Given the description of an element on the screen output the (x, y) to click on. 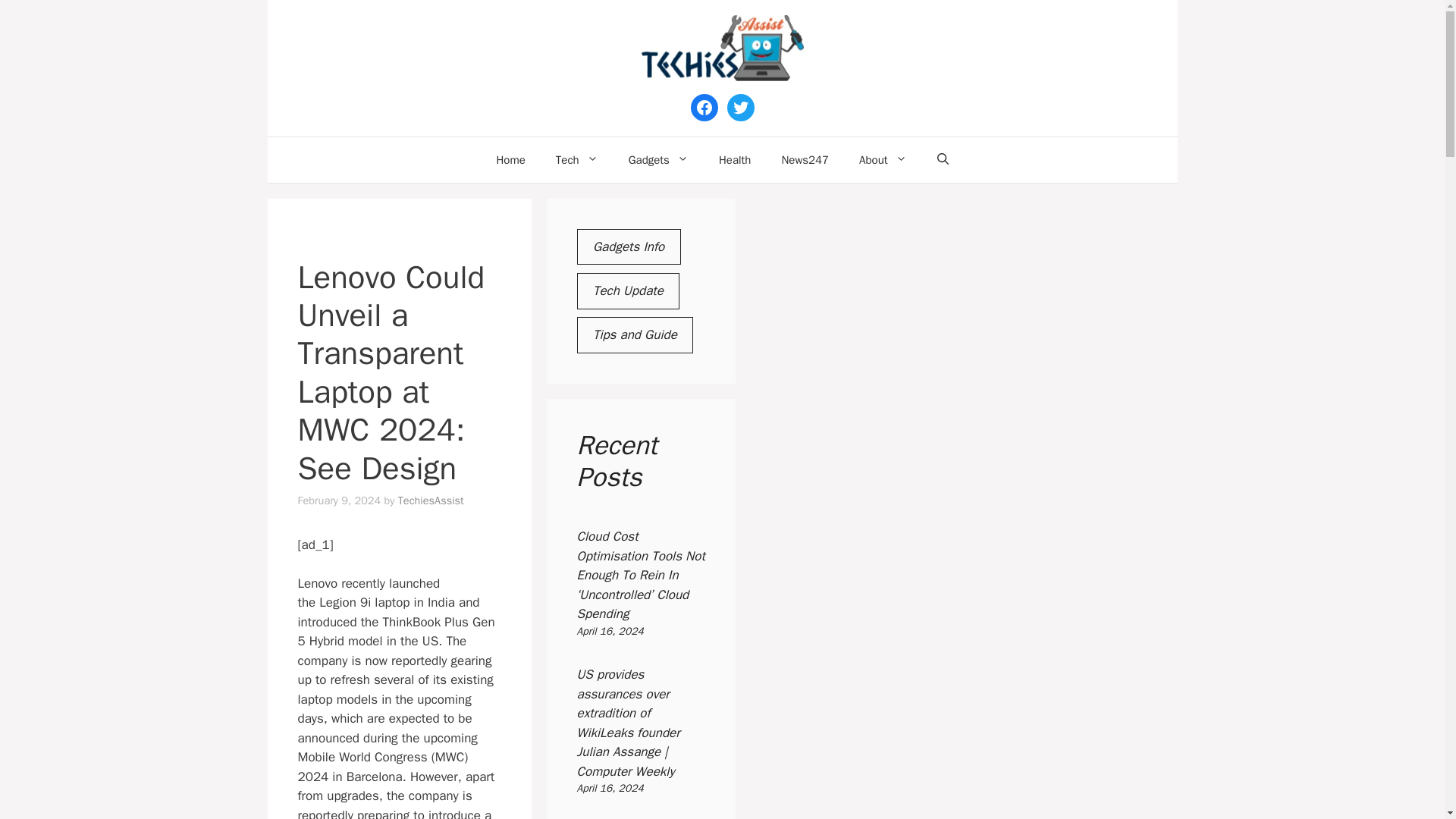
Home (510, 159)
Twitter (740, 107)
News247 (804, 159)
Tech Update (627, 290)
Gadgets (657, 159)
Facebook (703, 107)
Gadgets Info (627, 247)
Tips and Guide (634, 334)
TechiesAssist (430, 499)
Health (735, 159)
Tech (576, 159)
View all posts by TechiesAssist (430, 499)
About (882, 159)
